Given the description of an element on the screen output the (x, y) to click on. 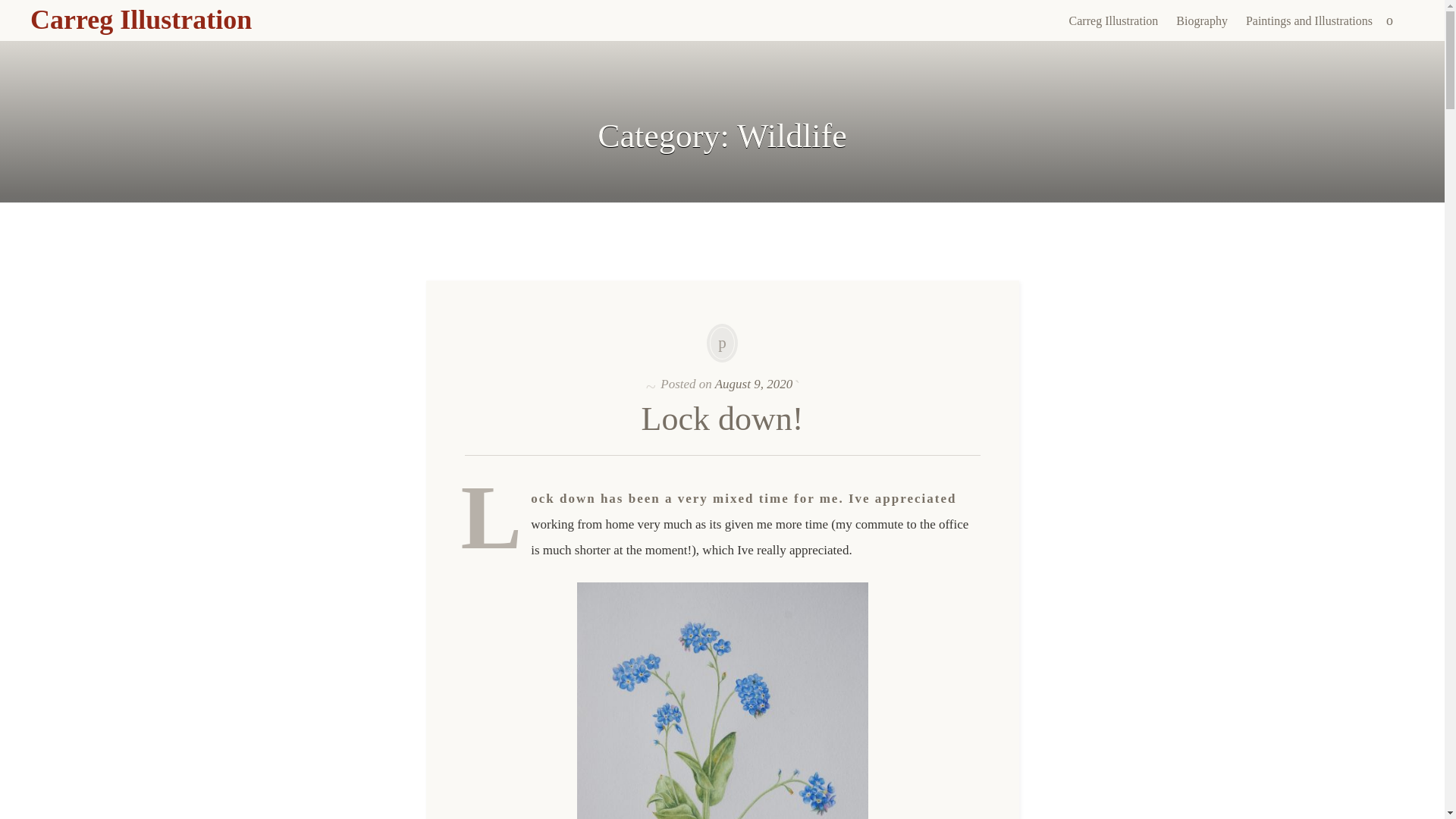
Lock down! (722, 418)
Search (11, 9)
August 9, 2020 (753, 382)
Paintings and Illustrations (1309, 21)
Carreg Illustration (140, 19)
Biography (1201, 21)
Carreg Illustration (1113, 21)
Carreg Illustration (140, 19)
